Given the description of an element on the screen output the (x, y) to click on. 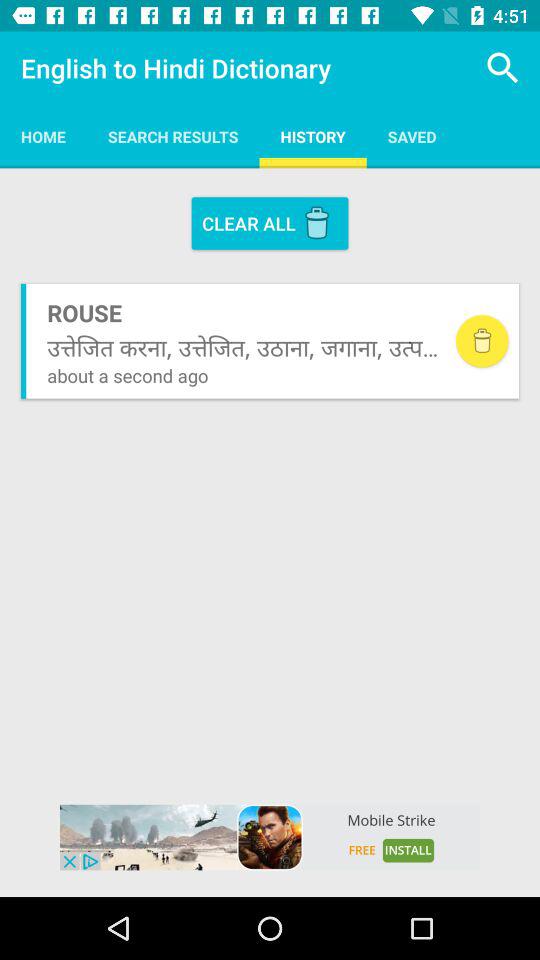
delete button (482, 341)
